Given the description of an element on the screen output the (x, y) to click on. 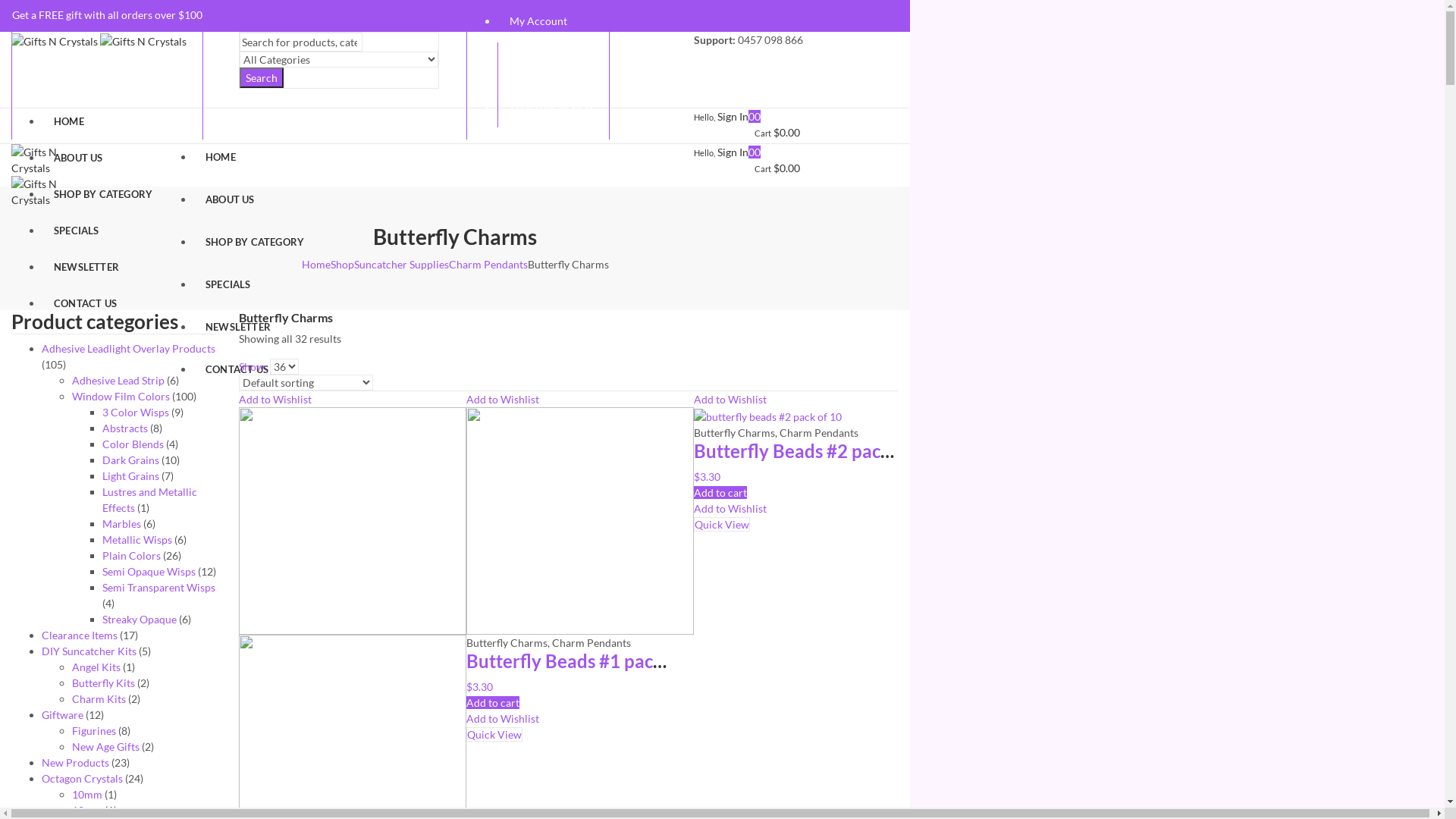
Shop Element type: text (342, 263)
Light Grains Element type: text (130, 475)
SPECIALS Element type: text (102, 235)
Color Blends Element type: text (132, 443)
DIY Suncatcher Kits Element type: text (88, 650)
0
Cart $0.00 Element type: text (777, 124)
My Account Element type: text (552, 21)
CONTACT US Element type: text (102, 308)
Add to Wishlist Element type: text (502, 718)
10mm Element type: text (87, 793)
0
Cart $0.00 Element type: text (777, 159)
Butterfly Charms Element type: text (734, 432)
New Products Element type: text (75, 762)
Hello, Sign In Element type: text (720, 152)
CONTACT US Element type: text (254, 377)
Hello, Sign In Element type: text (720, 116)
ABOUT US Element type: text (254, 207)
Butterfly Kits Element type: text (103, 682)
0 Element type: text (751, 115)
Add to cart Element type: text (719, 492)
Shopping Cart Element type: text (553, 63)
Home Element type: text (315, 263)
Add to Wishlist Element type: text (729, 508)
HOME Element type: text (102, 126)
Charm Pendants Element type: text (591, 642)
Search Element type: text (261, 77)
Post Your Review! Element type: text (553, 105)
Add to cart Element type: text (492, 702)
SPECIALS Element type: text (254, 292)
SHOP BY CATEGORY Element type: text (254, 250)
New Age Gifts Element type: text (105, 746)
Suncatcher Supplies Element type: text (400, 263)
Angel Kits Element type: text (96, 666)
Butterfly Charms Element type: text (506, 642)
Charm Pendants Element type: text (487, 263)
Adhesive Lead Strip Element type: text (118, 379)
Adhesive Leadlight Overlay Products Element type: text (128, 348)
3 Color Wisps Element type: text (135, 411)
Window Film Colors Element type: text (120, 395)
ABOUT US Element type: text (102, 162)
Charm Pendants Element type: text (818, 432)
Octagon Crystals Element type: text (81, 777)
Butterfly Beads #2 pack of 10 Element type: text (814, 450)
Add to Wishlist Element type: text (274, 398)
Streaky Opaque Element type: text (139, 618)
Lustres and Metallic Effects Element type: text (149, 499)
SHOP BY CATEGORY Element type: text (102, 199)
Plain Colors Element type: text (131, 555)
HOME Element type: text (254, 165)
Giftware Element type: text (62, 714)
Butterfly Beads #1 pack of 12 Element type: text (587, 660)
Figurines Element type: text (94, 730)
12mm Element type: text (87, 809)
0 Element type: text (751, 151)
NEWSLETTER Element type: text (254, 334)
Add to Wishlist Element type: text (729, 398)
Semi Opaque Wisps Element type: text (148, 570)
Quick View Element type: text (494, 734)
Metallic Wisps Element type: text (137, 539)
Marbles Element type: text (121, 523)
Add to Wishlist Element type: text (502, 398)
Semi Transparent Wisps Element type: text (158, 586)
NEWSLETTER Element type: text (102, 272)
Clearance Items Element type: text (79, 634)
Dark Grains Element type: text (130, 459)
Abstracts Element type: text (124, 427)
Quick View Element type: text (721, 524)
Charm Kits Element type: text (98, 698)
